Given the description of an element on the screen output the (x, y) to click on. 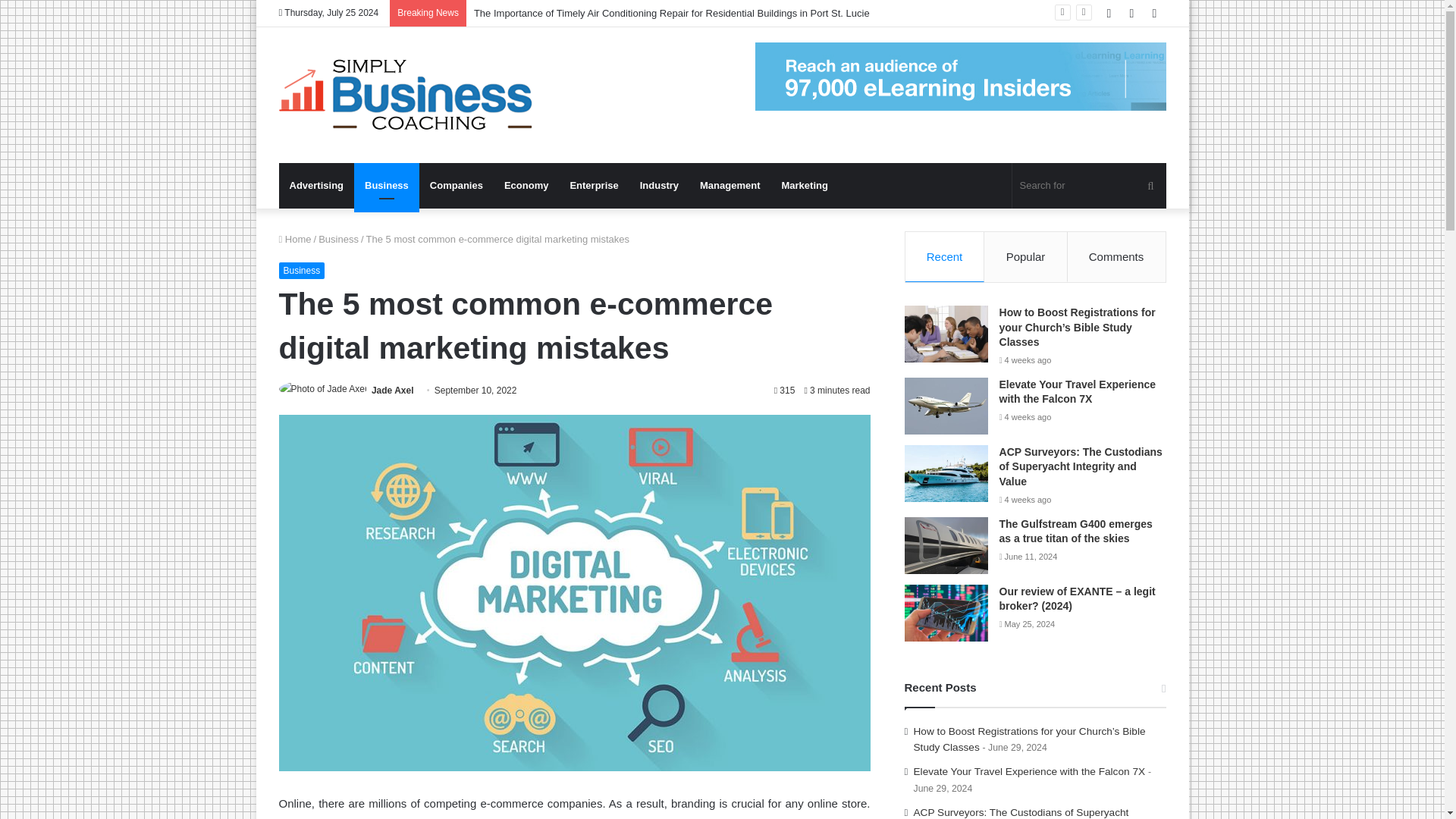
Business (338, 238)
Companies (456, 185)
Search for (1088, 185)
Jade Axel (392, 389)
Management (729, 185)
Business (386, 185)
Economy (526, 185)
Advertising (317, 185)
Industry (658, 185)
Marketing (804, 185)
Home (295, 238)
Enterprise (593, 185)
Business (301, 270)
